Given the description of an element on the screen output the (x, y) to click on. 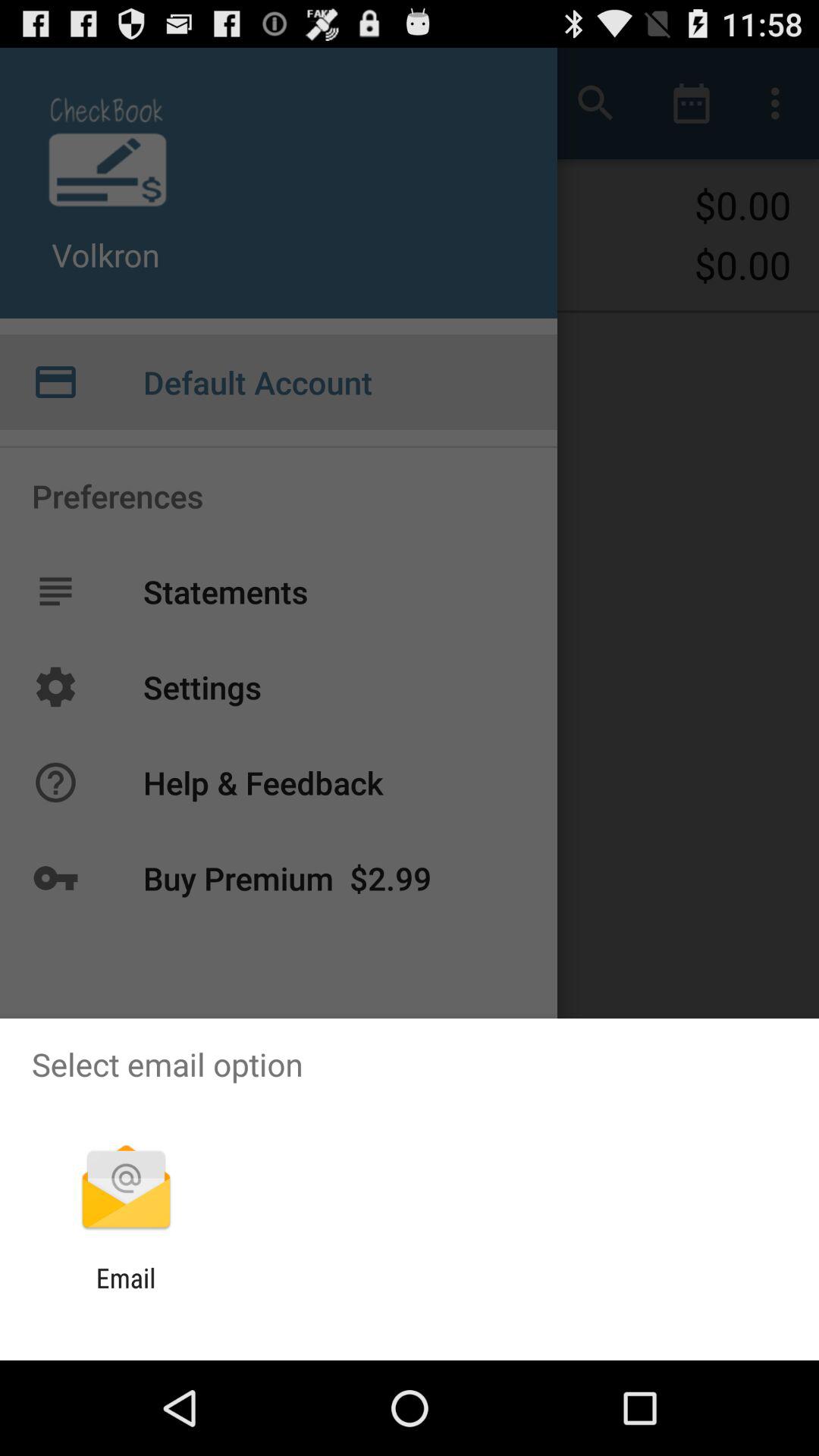
press item below the select email option icon (126, 1189)
